Given the description of an element on the screen output the (x, y) to click on. 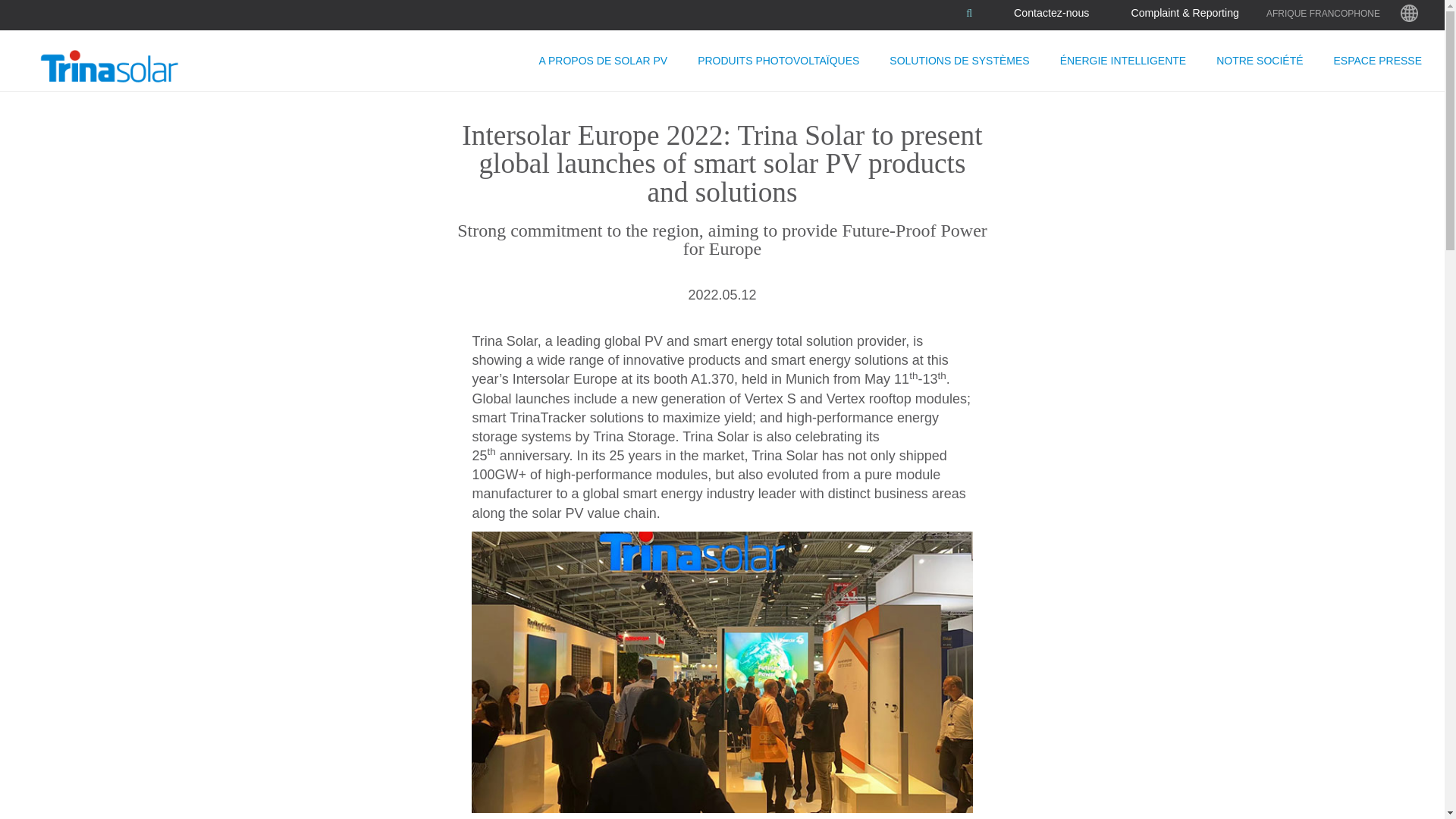
A PROPOS DE SOLAR PV (603, 60)
ESPACE PRESSE (1378, 60)
Trina Solar (127, 67)
Contactez-nous (1051, 12)
